Given the description of an element on the screen output the (x, y) to click on. 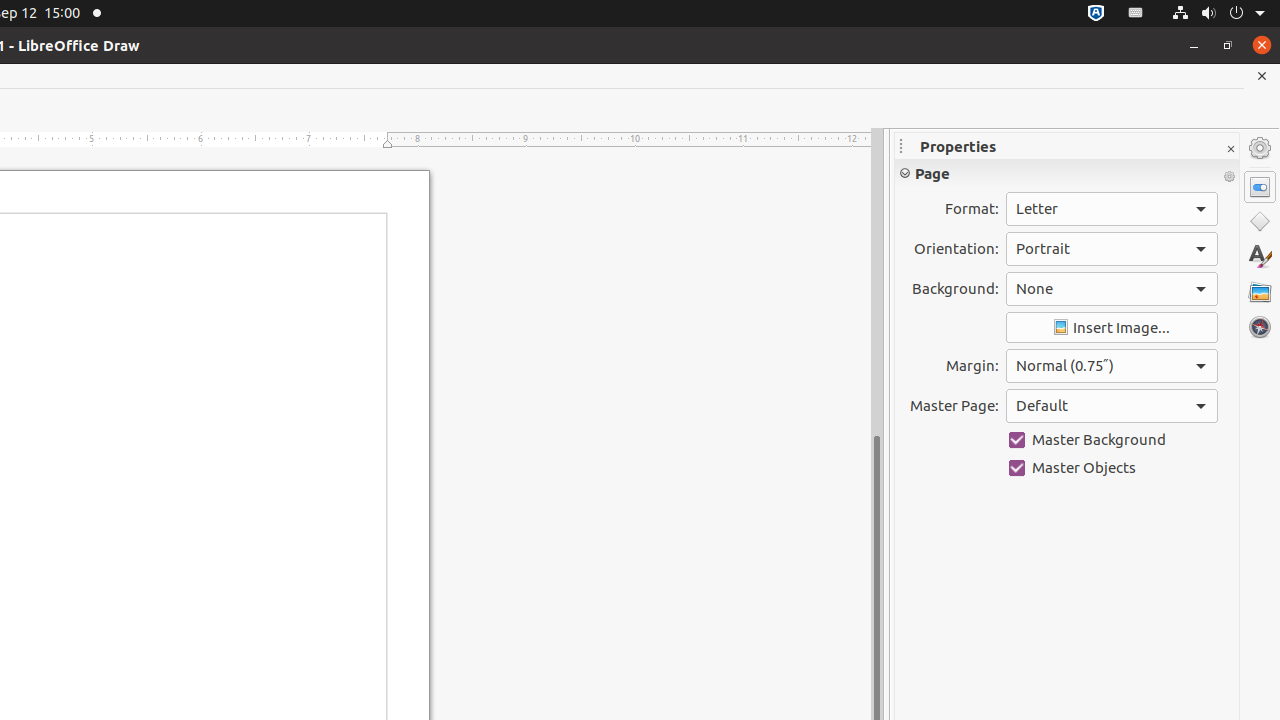
Insert Image Element type: push-button (1112, 327)
More Options Element type: push-button (1229, 177)
Master Background Element type: check-box (1112, 440)
Navigator Element type: radio-button (1260, 327)
:1.72/StatusNotifierItem Element type: menu (1096, 13)
